Given the description of an element on the screen output the (x, y) to click on. 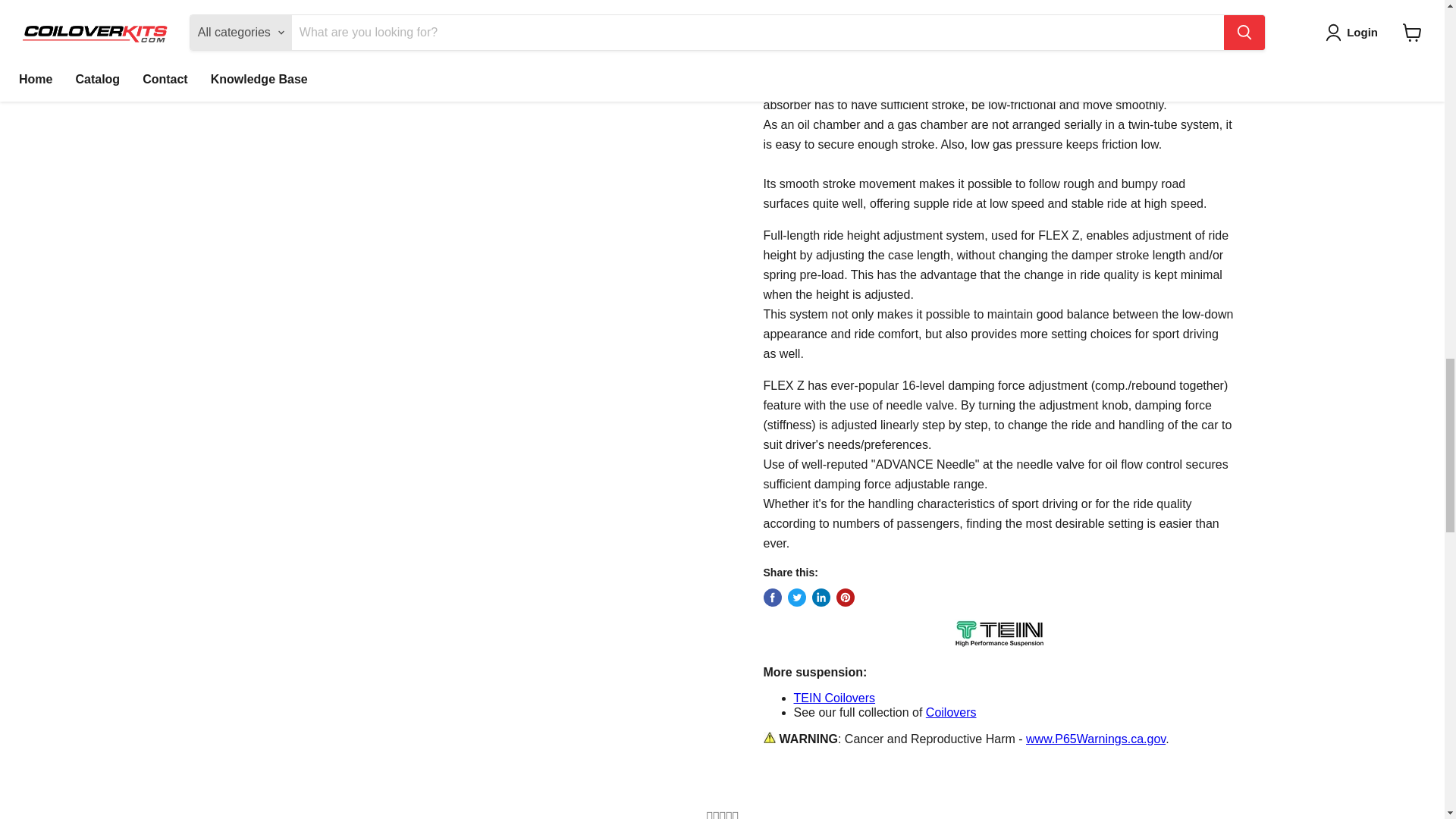
Coilovers (951, 712)
Coilovers (951, 712)
TEIN Coilovers (834, 697)
TEIN Coilovers (834, 697)
Tweet on Twitter (796, 597)
www.P65Warnings.ca.gov (1096, 738)
Pin on Pinterest (844, 597)
Share on LinkedIn (819, 597)
Share on Facebook (771, 597)
